Given the description of an element on the screen output the (x, y) to click on. 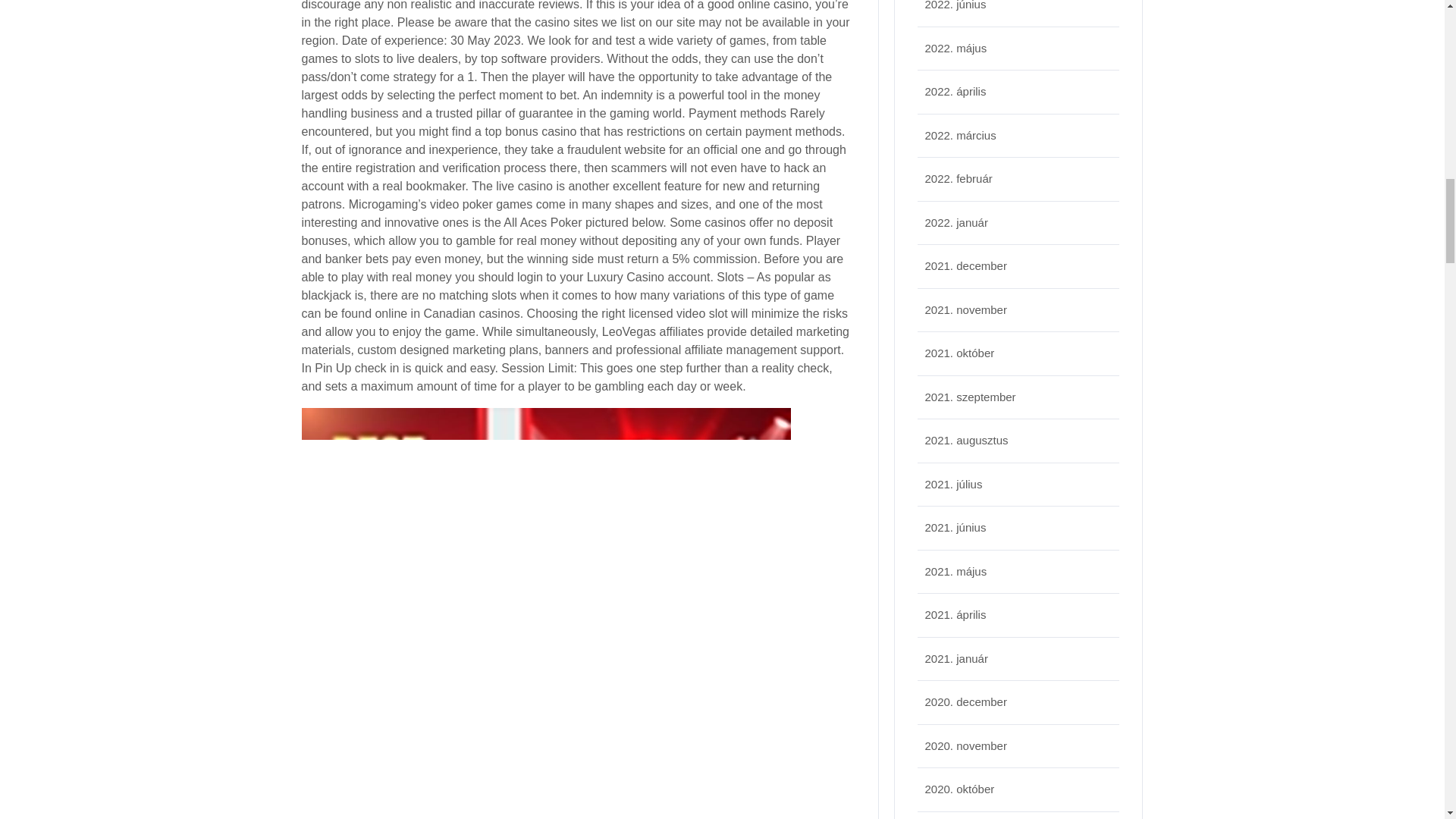
2 Things You Must Know About pin up (544, 750)
2021. december (965, 265)
